Given the description of an element on the screen output the (x, y) to click on. 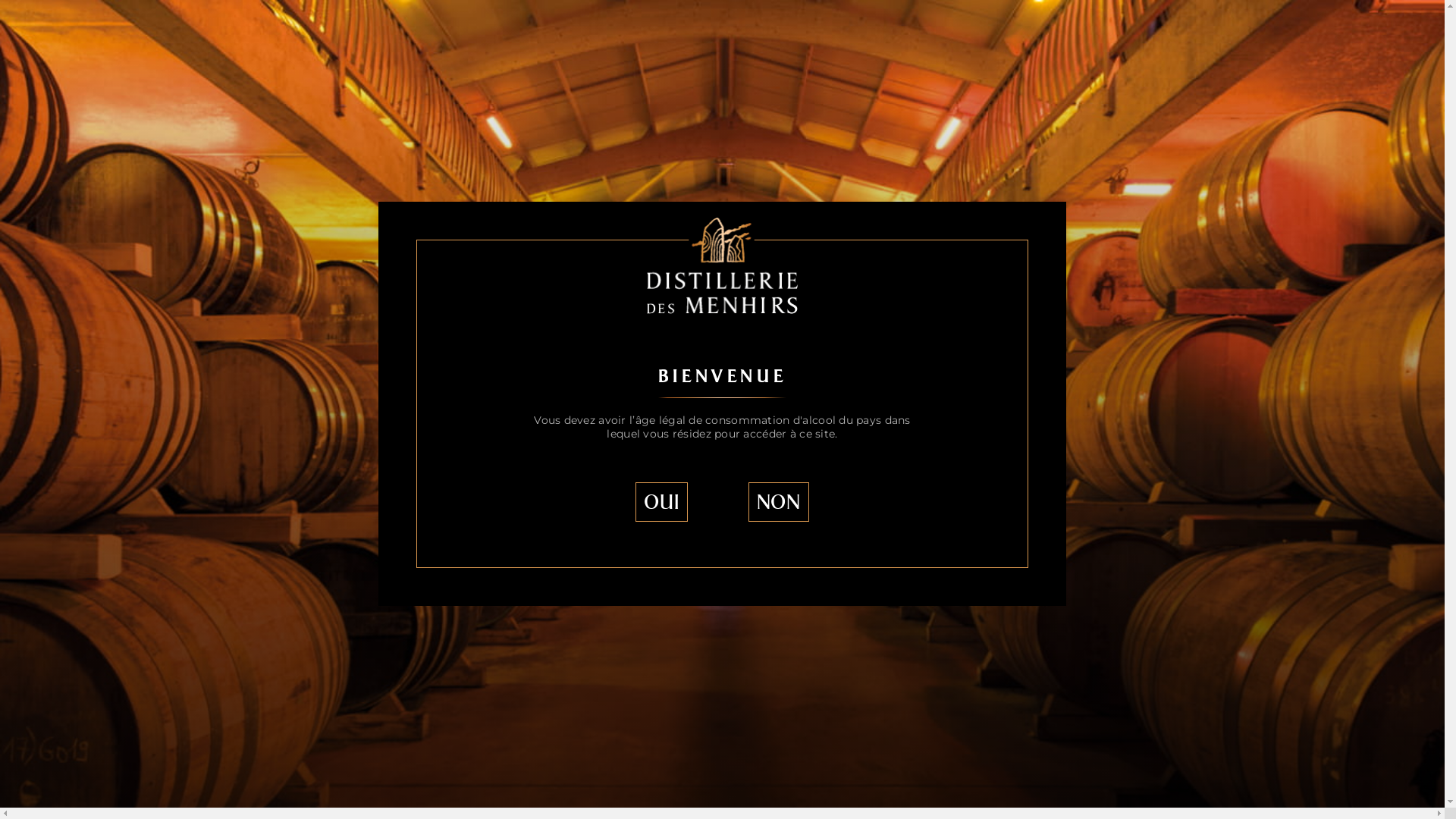
DISTILLERIE DES MENHIRS Element type: text (298, 102)
MON COMPTE Element type: text (1315, 35)
POMMEAUX & LAMBIGS Element type: text (826, 35)
AJOUTER AU PANIER Element type: text (1115, 216)
LAMBIG | EAU-DE-VIE DE CIDRE Element type: text (429, 102)
WHISKIES Element type: text (584, 35)
CONTACT Element type: text (1066, 35)
PANIER
0 Element type: text (1206, 35)
LA DISTILLERIE Element type: text (368, 35)
